Given the description of an element on the screen output the (x, y) to click on. 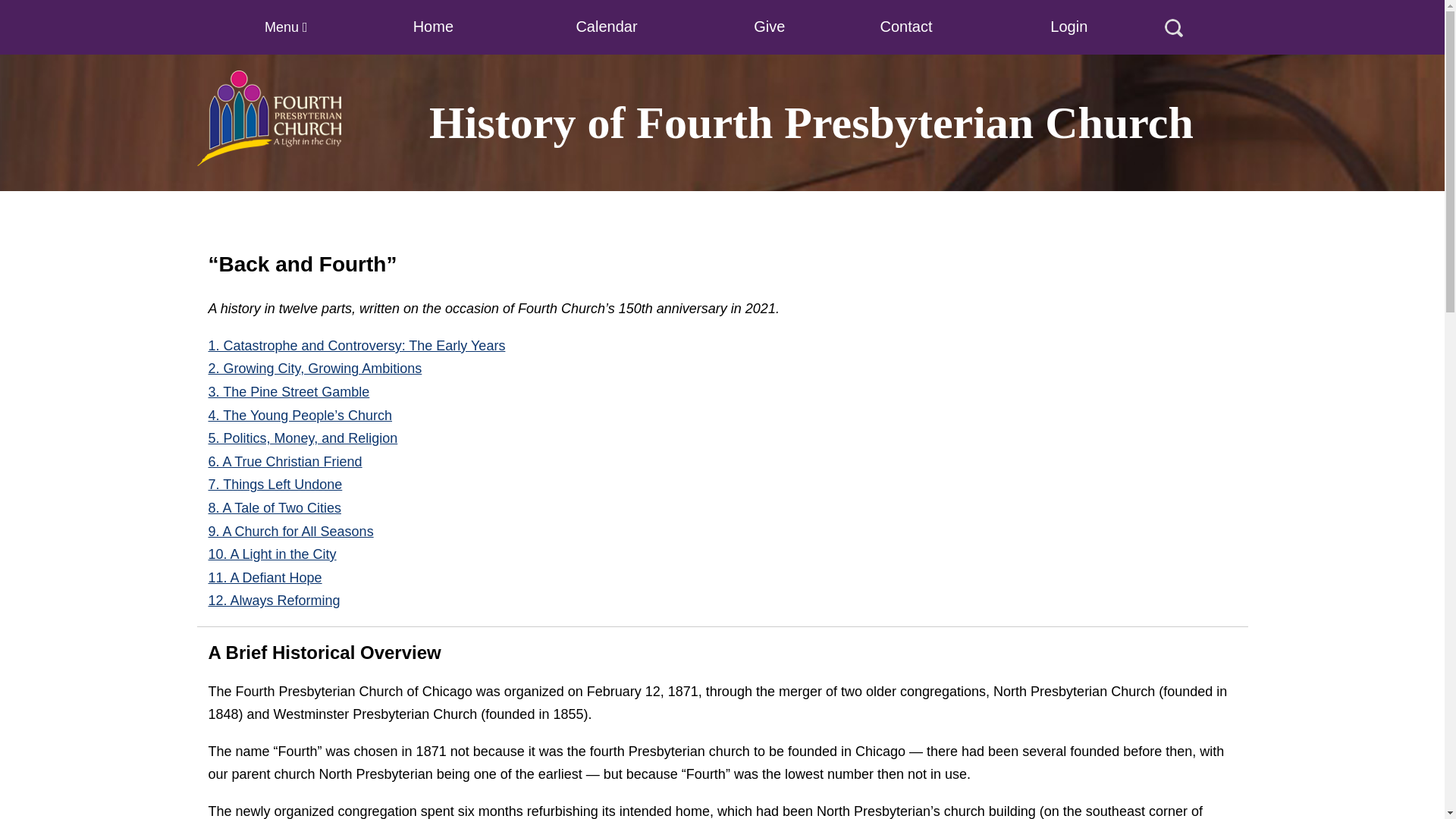
3. The Pine Street Gamble (288, 391)
Home (432, 26)
Login (1068, 26)
Calendar (606, 26)
5. Politics, Money, and Religion (302, 437)
2. Growing City, Growing Ambitions (315, 368)
Give (769, 26)
Fourth Presbyterian Church, A Light in the City (270, 117)
Menu (285, 27)
6. A True Christian Friend (284, 461)
